Given the description of an element on the screen output the (x, y) to click on. 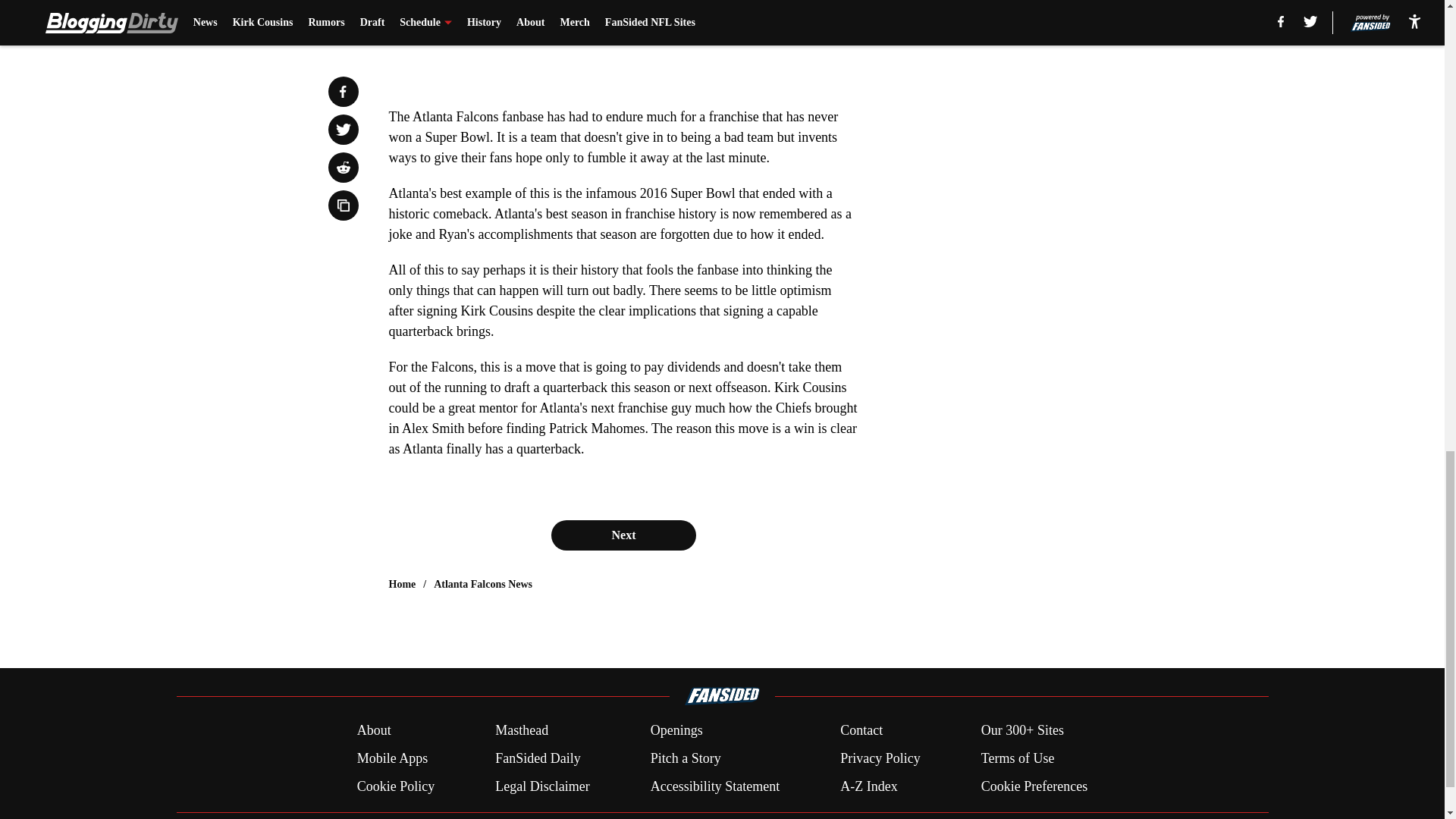
FanSided Daily (537, 758)
Pitch a Story (685, 758)
Openings (676, 730)
Masthead (521, 730)
Contact (861, 730)
About (373, 730)
Next (622, 535)
Mobile Apps (392, 758)
Home (401, 584)
Atlanta Falcons News (482, 584)
Privacy Policy (880, 758)
